Given the description of an element on the screen output the (x, y) to click on. 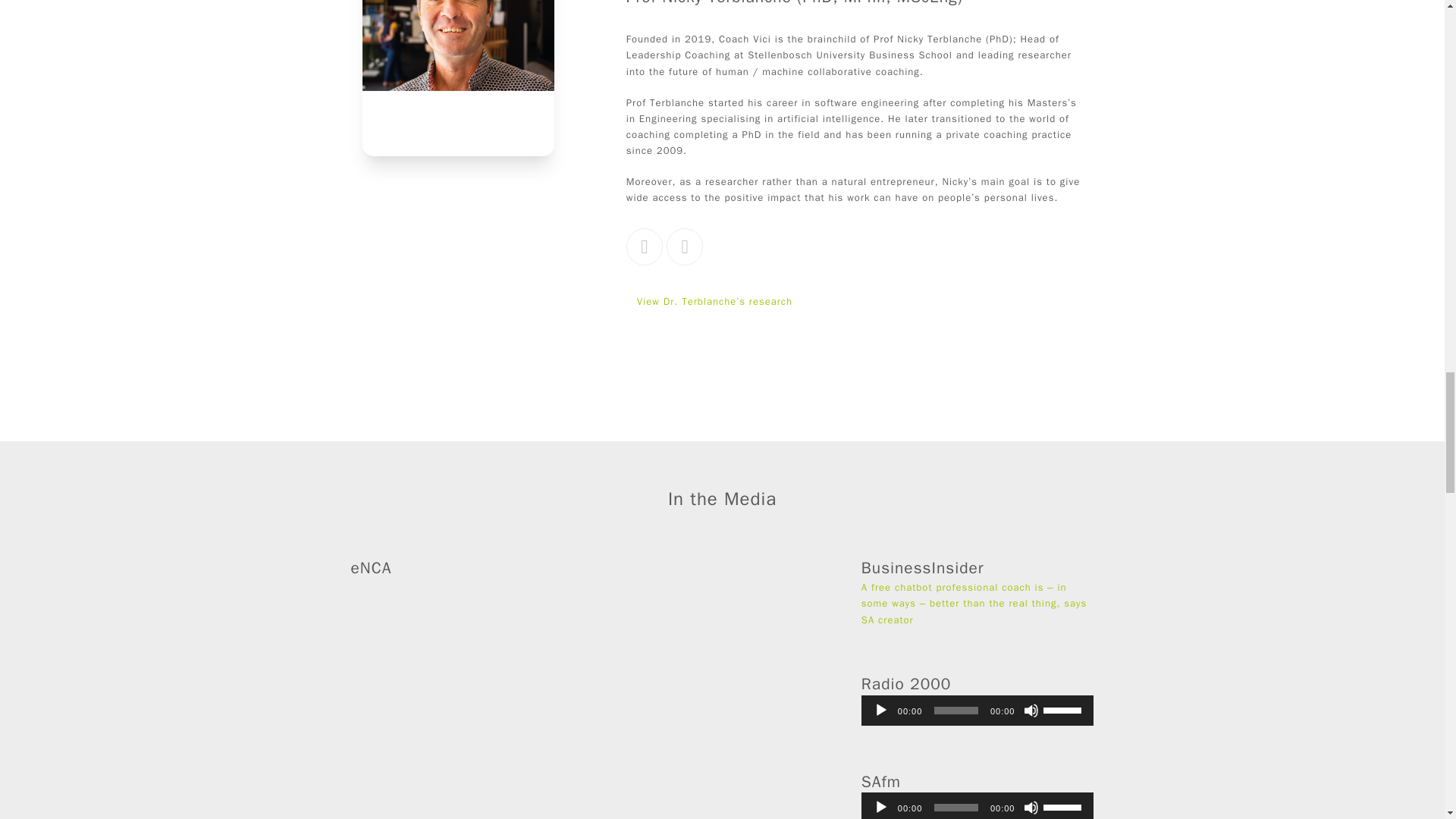
Play (880, 807)
Mute (1031, 807)
Email (684, 246)
Play (880, 710)
Mute (1031, 710)
LinkedIn (644, 246)
Email (684, 246)
LinkedIn (644, 246)
